Given the description of an element on the screen output the (x, y) to click on. 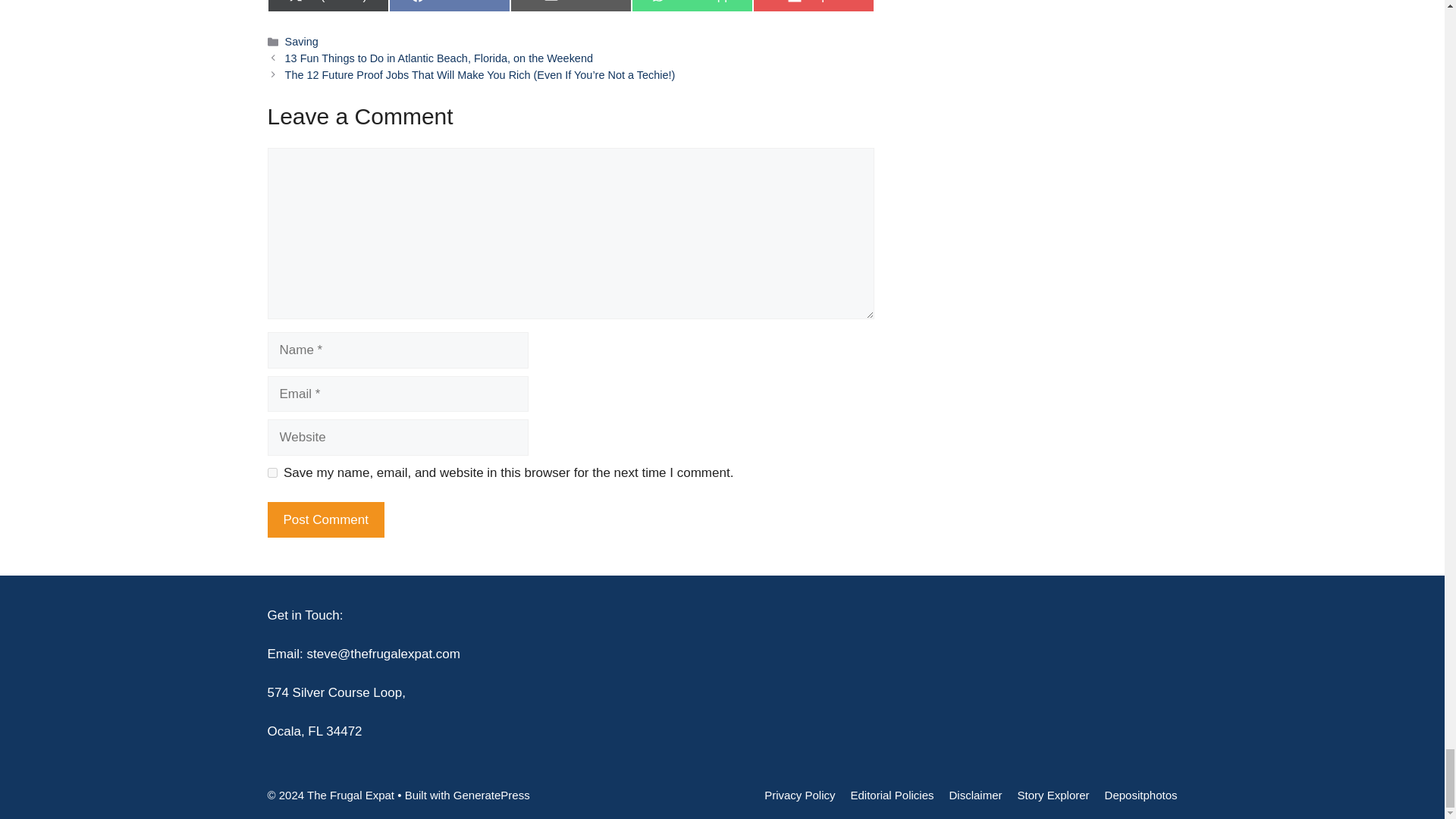
yes (271, 472)
Post Comment (691, 6)
Saving (448, 6)
Post Comment (569, 6)
